Given the description of an element on the screen output the (x, y) to click on. 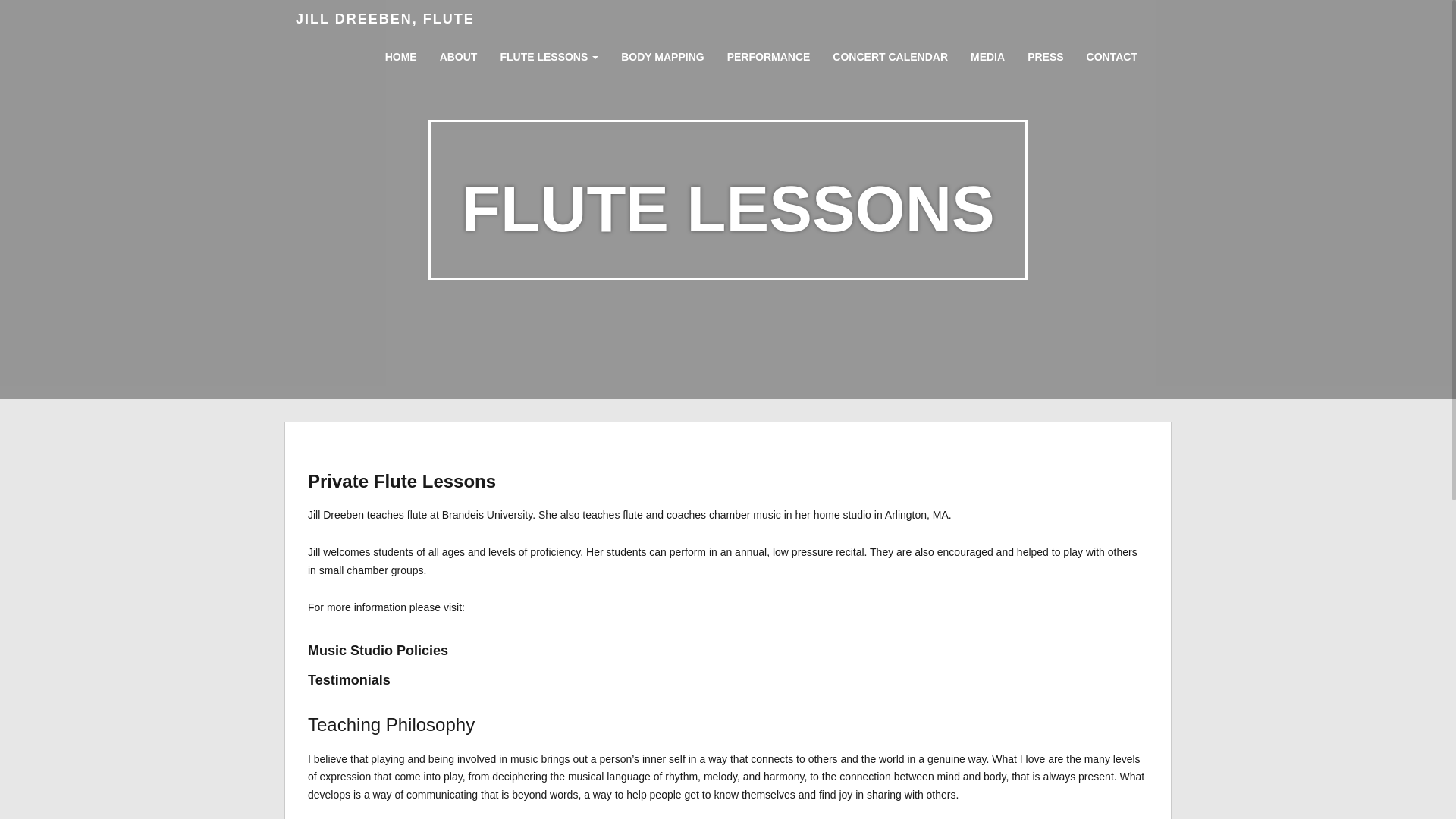
FLUTE LESSONS (548, 53)
Performance (768, 52)
ABOUT (458, 52)
Flute Lessons (548, 53)
BODY MAPPING (661, 52)
MEDIA (986, 52)
About (458, 52)
Music Studio Policies (377, 650)
CONTACT (1111, 52)
JILL DREEBEN, FLUTE (384, 18)
